Given the description of an element on the screen output the (x, y) to click on. 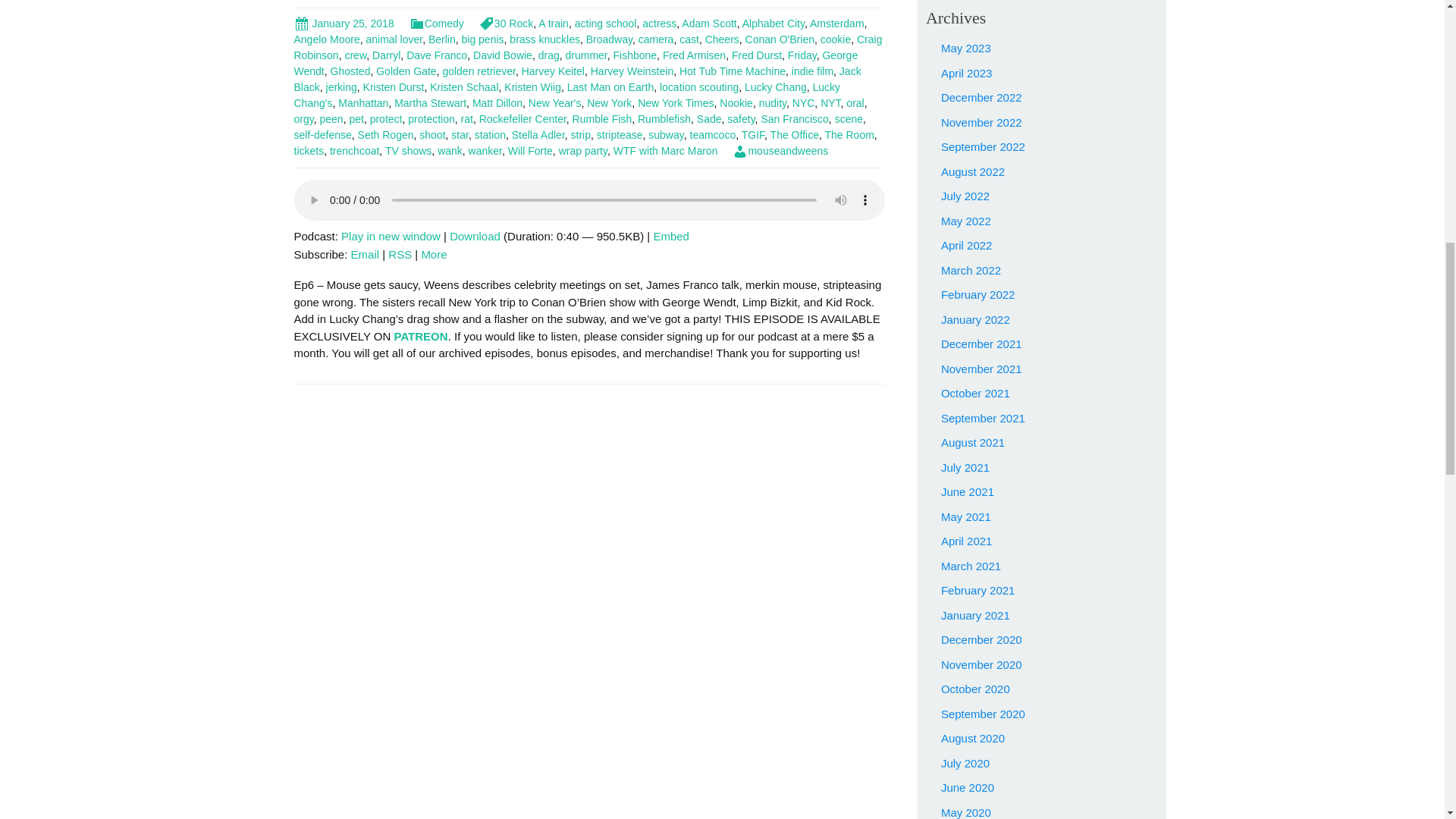
More (433, 254)
Embed (670, 236)
Download (474, 236)
Play in new window (390, 236)
View all posts by mouseandweens (780, 150)
Subscribe by Email (365, 254)
Subscribe via RSS (400, 254)
